Given the description of an element on the screen output the (x, y) to click on. 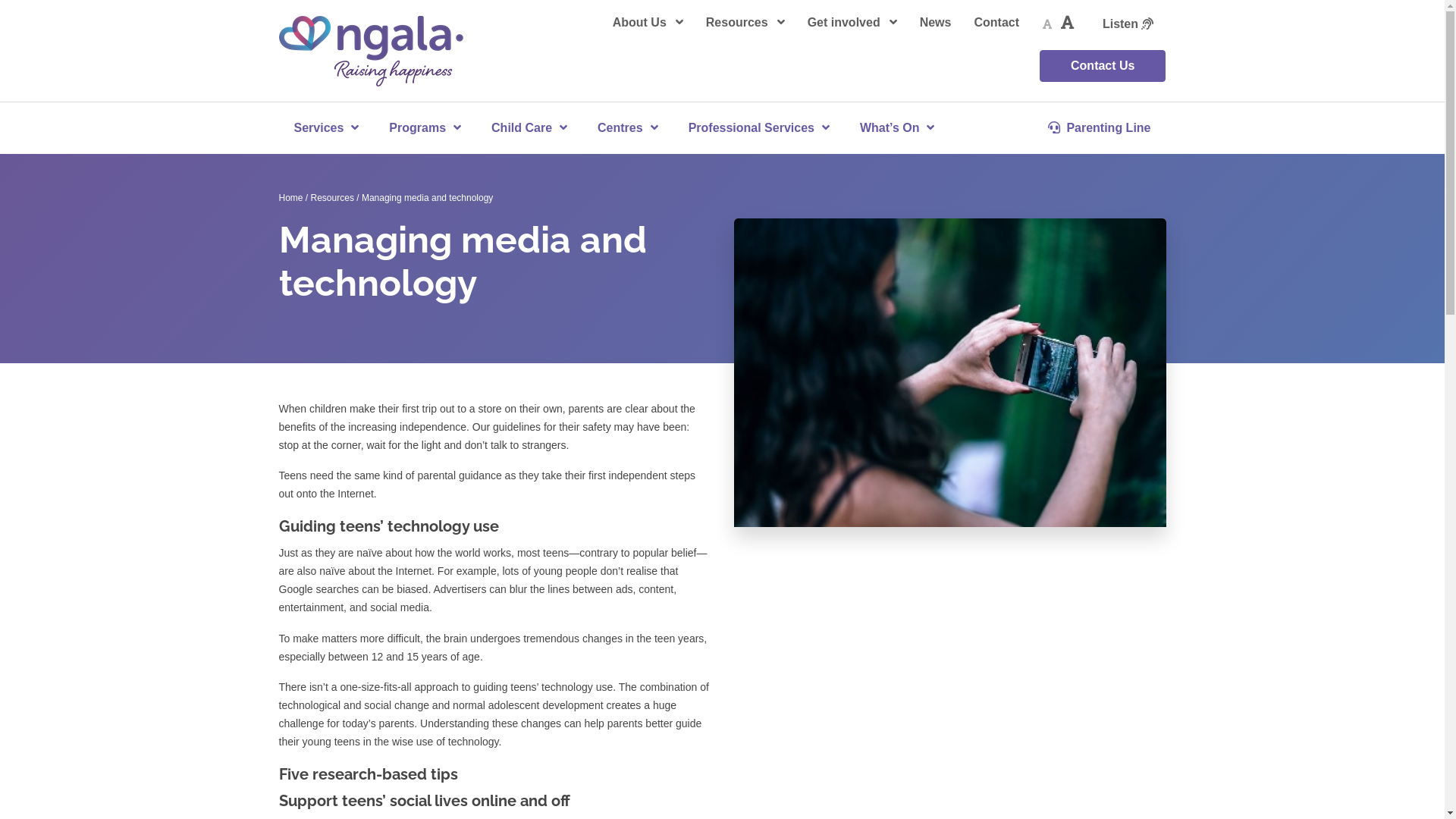
Programs Element type: text (424, 127)
Resources Element type: text (332, 197)
Centres Element type: text (627, 127)
Resources Element type: text (745, 22)
News Element type: text (935, 22)
Professional Services Element type: text (758, 127)
Child Care Element type: text (529, 127)
Contact Us Element type: text (1102, 65)
Parenting Line Element type: text (1098, 127)
Listen Element type: text (1128, 23)
About Us Element type: text (647, 22)
Services Element type: text (326, 127)
Home Element type: text (291, 197)
Contact Element type: text (996, 22)
Get involved Element type: text (852, 22)
